Given the description of an element on the screen output the (x, y) to click on. 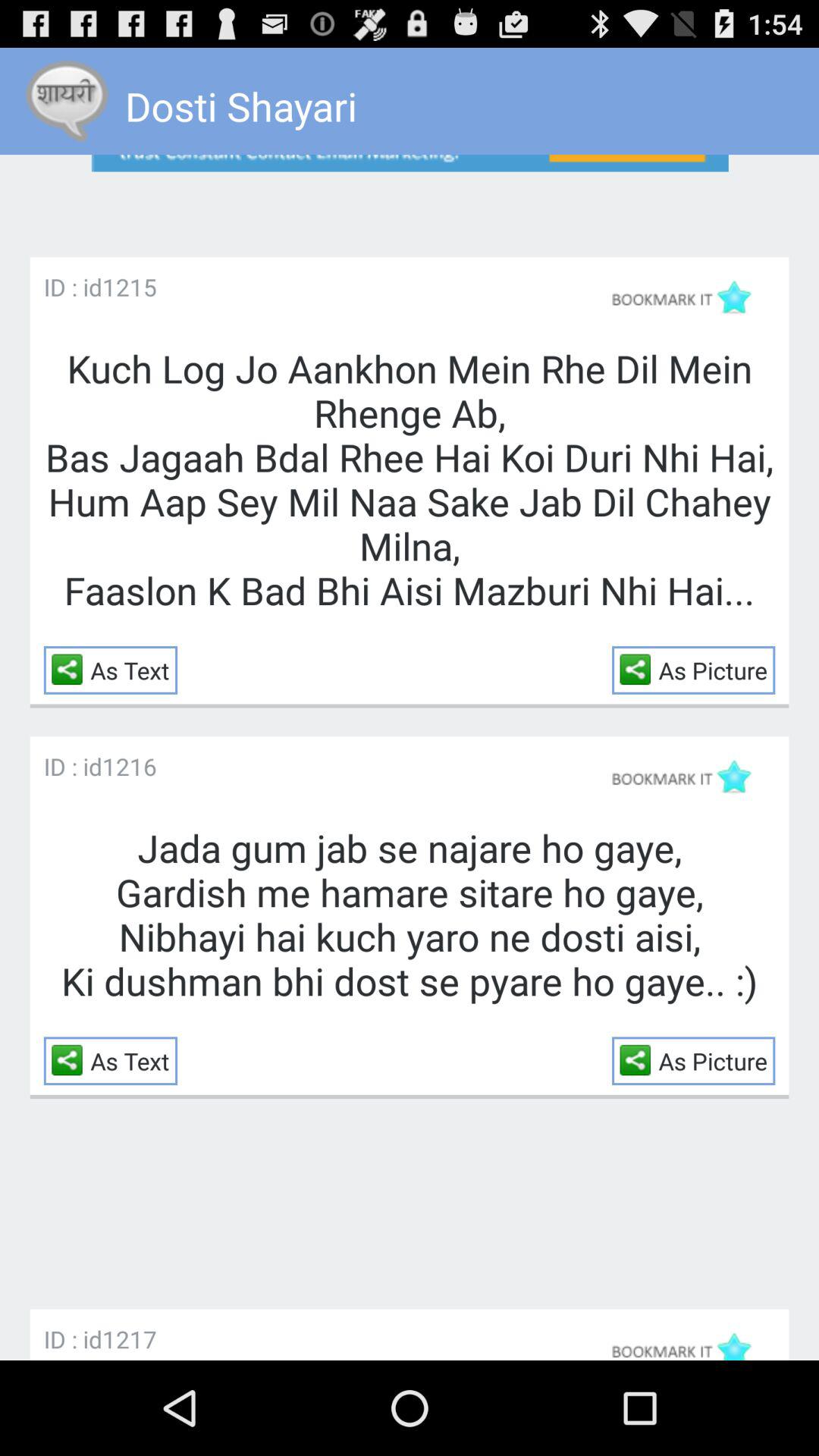
tap app at the center (409, 914)
